Given the description of an element on the screen output the (x, y) to click on. 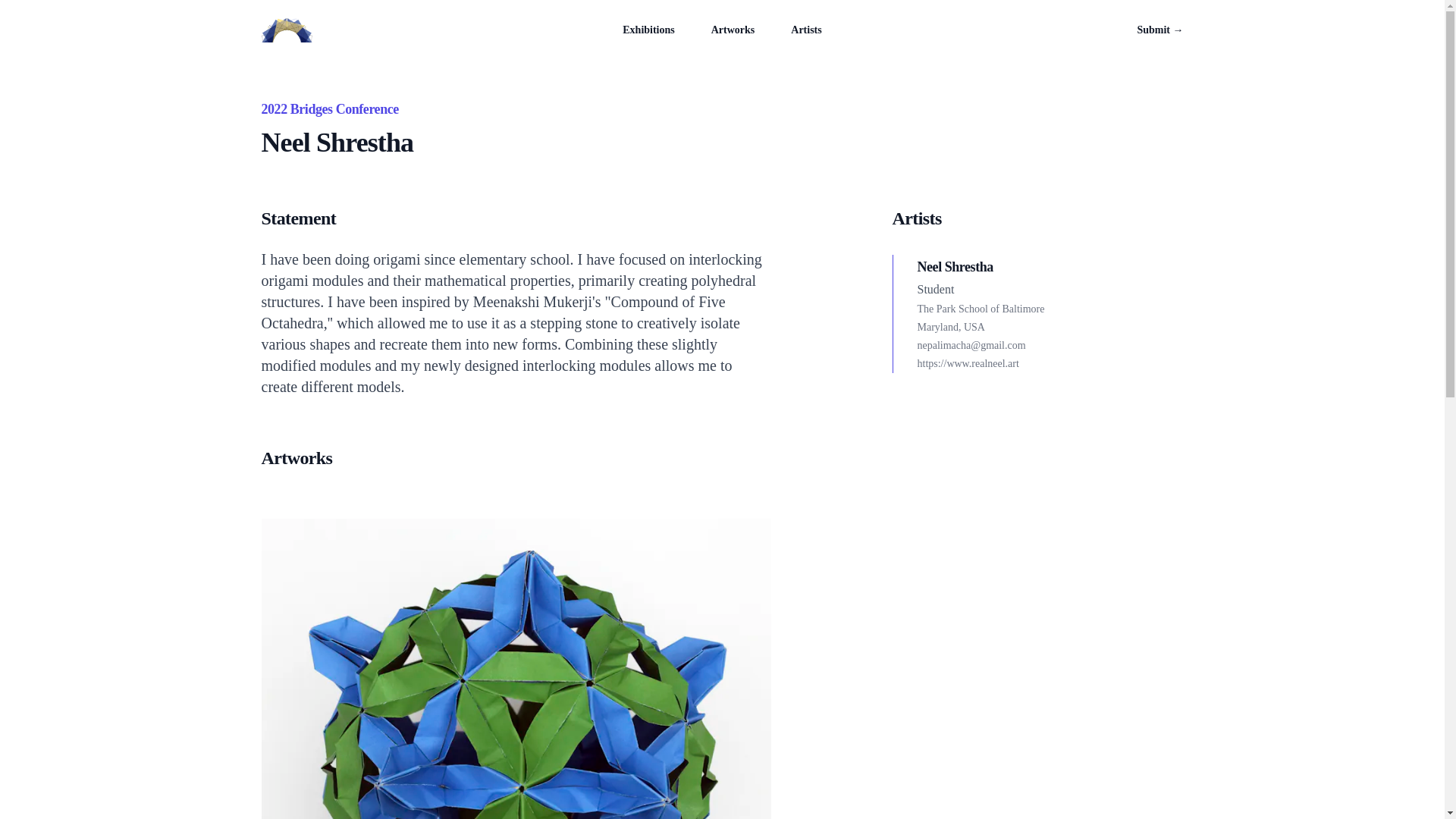
Mathematical Art Galleries (285, 29)
2022 Bridges Conference (328, 109)
Exhibitions (648, 30)
Artworks (733, 30)
Artists (805, 30)
